Given the description of an element on the screen output the (x, y) to click on. 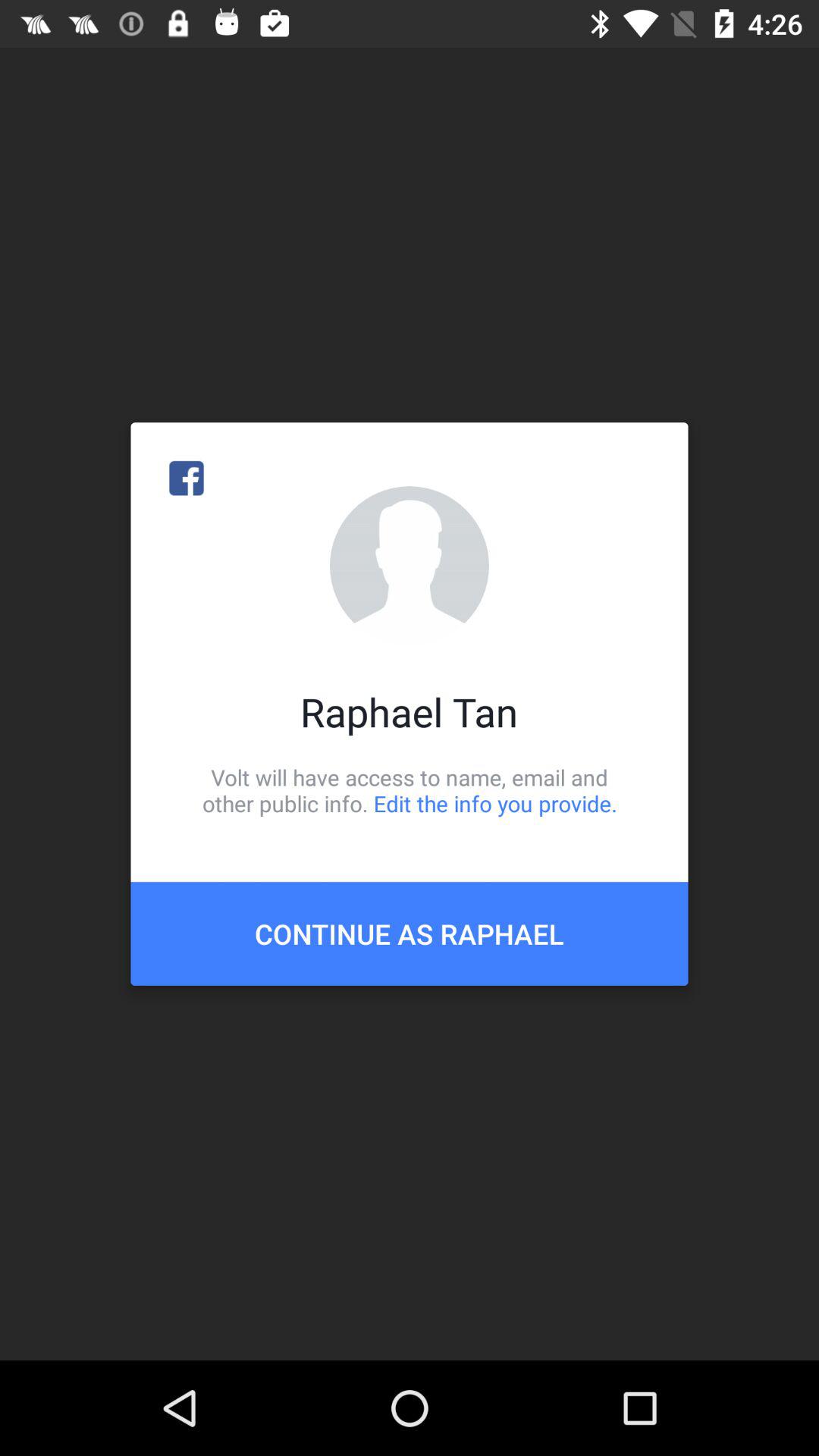
launch the continue as raphael icon (409, 933)
